Given the description of an element on the screen output the (x, y) to click on. 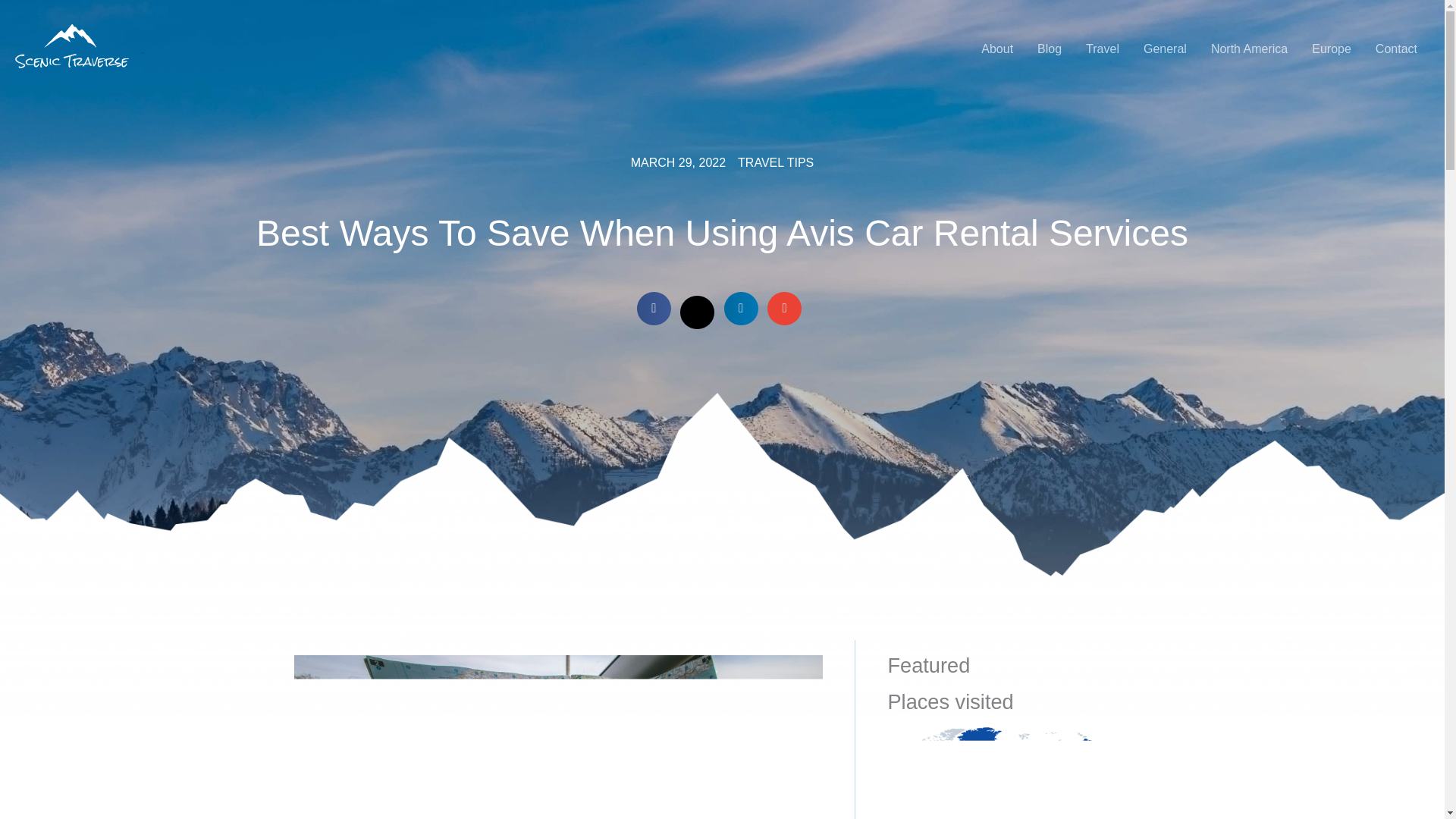
Europe (1331, 48)
North America (1249, 48)
MARCH 29, 2022 (677, 162)
Travel (1102, 48)
Contact (1395, 48)
General (1164, 48)
TRAVEL TIPS (775, 162)
About (997, 48)
